Given the description of an element on the screen output the (x, y) to click on. 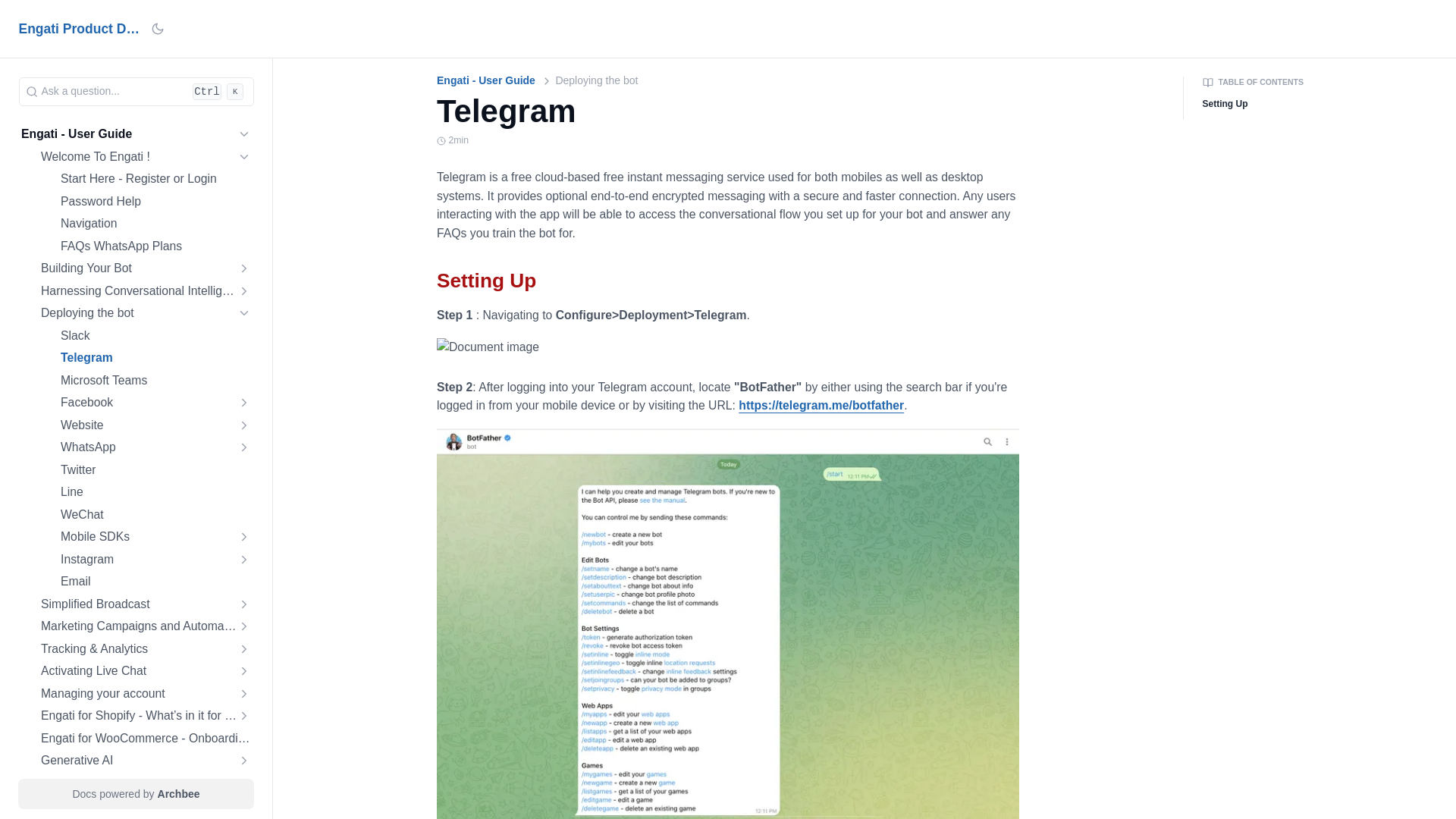
Slack (75, 334)
Engati - User Guide (135, 134)
FAQs WhatsApp Plans (121, 245)
Harnessing Conversational Intelligence (145, 291)
Deploying the bot (145, 312)
Building Your Bot (145, 268)
Simplified Broadcast (145, 603)
Instagram (155, 559)
Website (155, 424)
Engati APIs (145, 782)
Password Help (155, 201)
Start Here - Register or Login (155, 179)
Navigation (155, 223)
Slack (155, 334)
Email (155, 581)
